Given the description of an element on the screen output the (x, y) to click on. 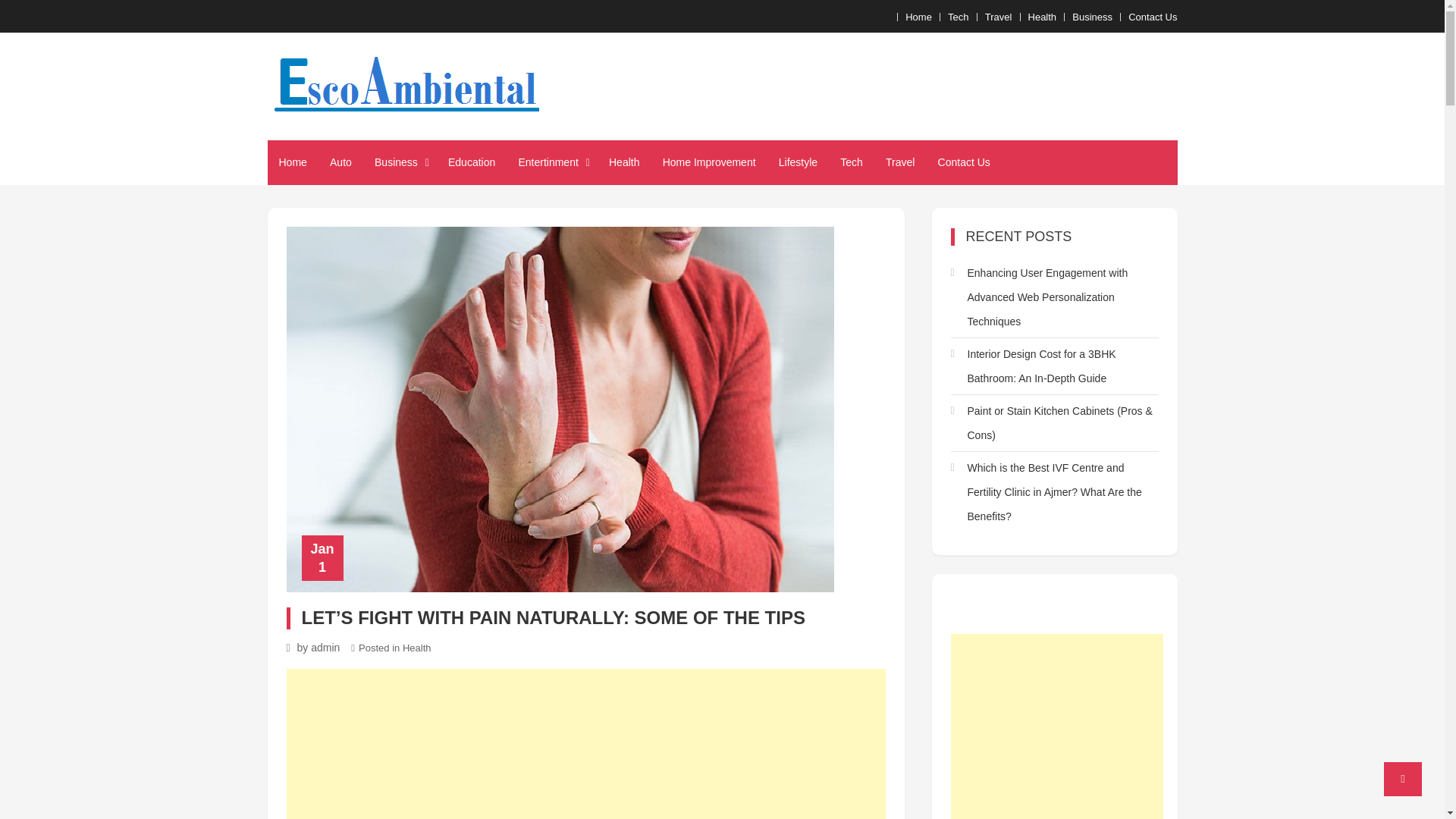
Education (471, 162)
Business (399, 162)
Tech (851, 162)
Tech (957, 16)
Health (416, 647)
Entertinment (551, 162)
Lifestyle (797, 162)
Auto (340, 162)
Health (623, 162)
